Given the description of an element on the screen output the (x, y) to click on. 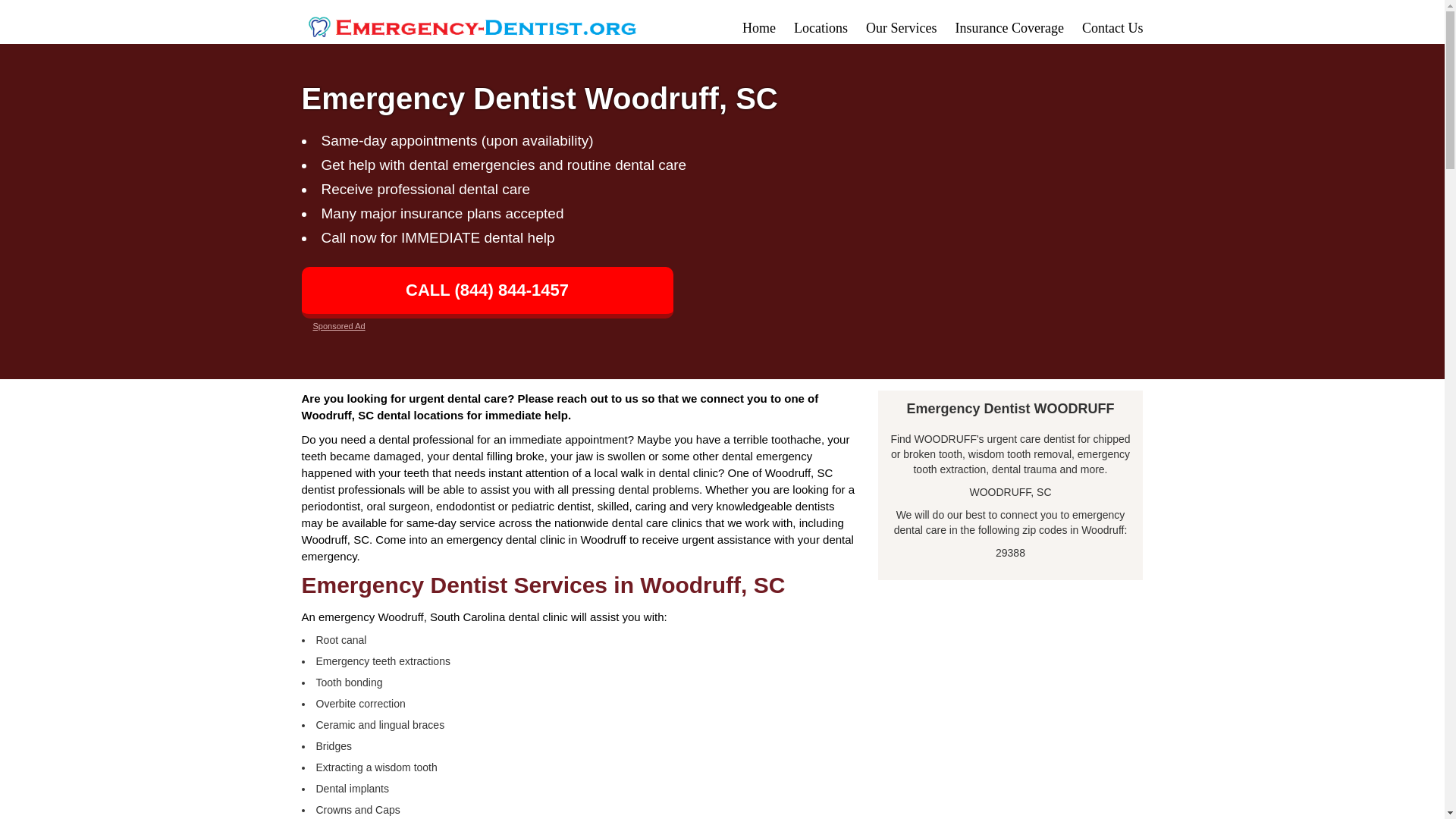
Home (759, 28)
Sponsored Ad (339, 325)
Our Services (901, 28)
Locations (820, 28)
Contact Us (1111, 28)
Insurance Coverage (1009, 28)
